Given the description of an element on the screen output the (x, y) to click on. 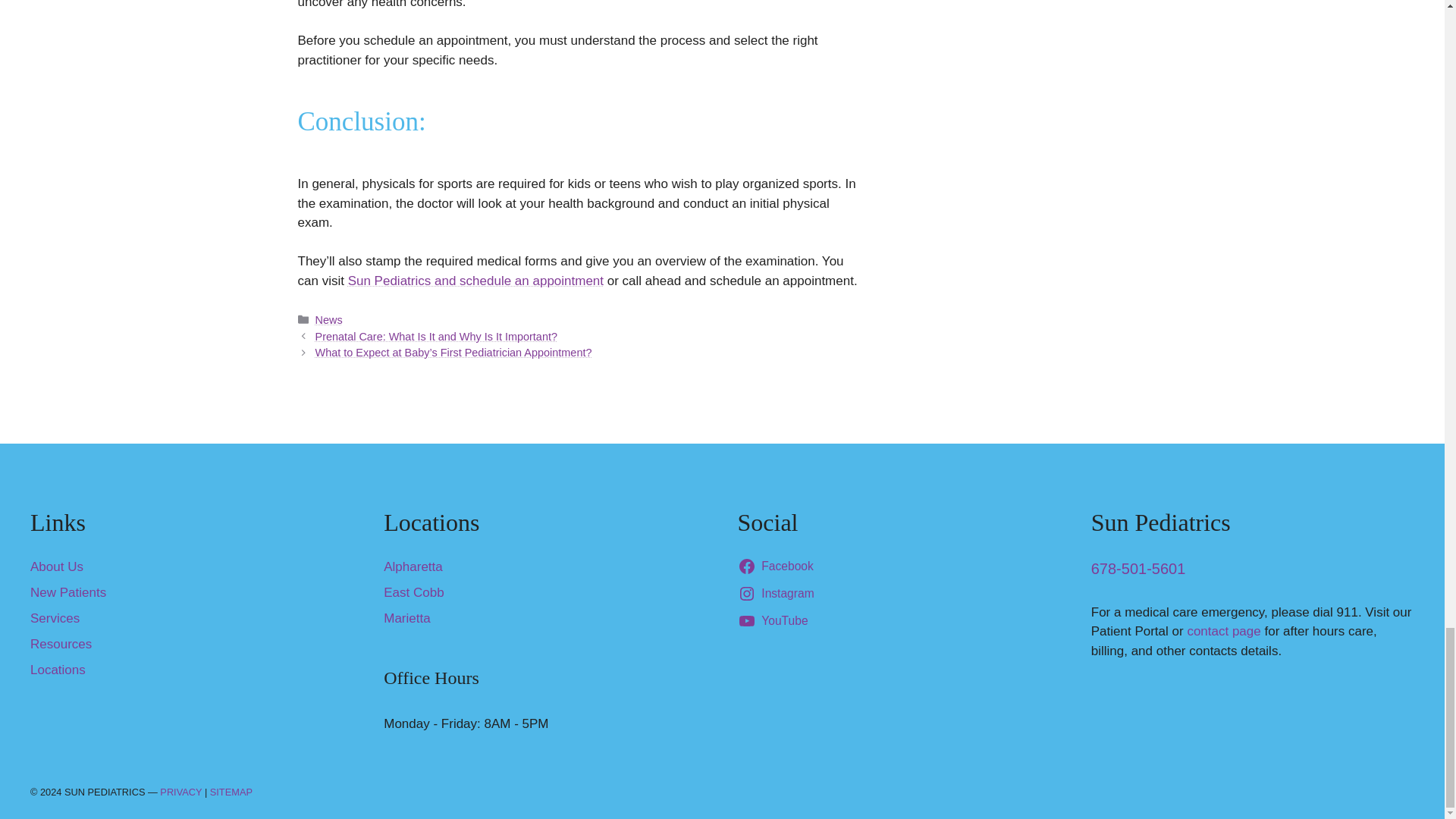
The Octane Agency (1368, 789)
Atlanta Web Design Agency (1368, 794)
